Given the description of an element on the screen output the (x, y) to click on. 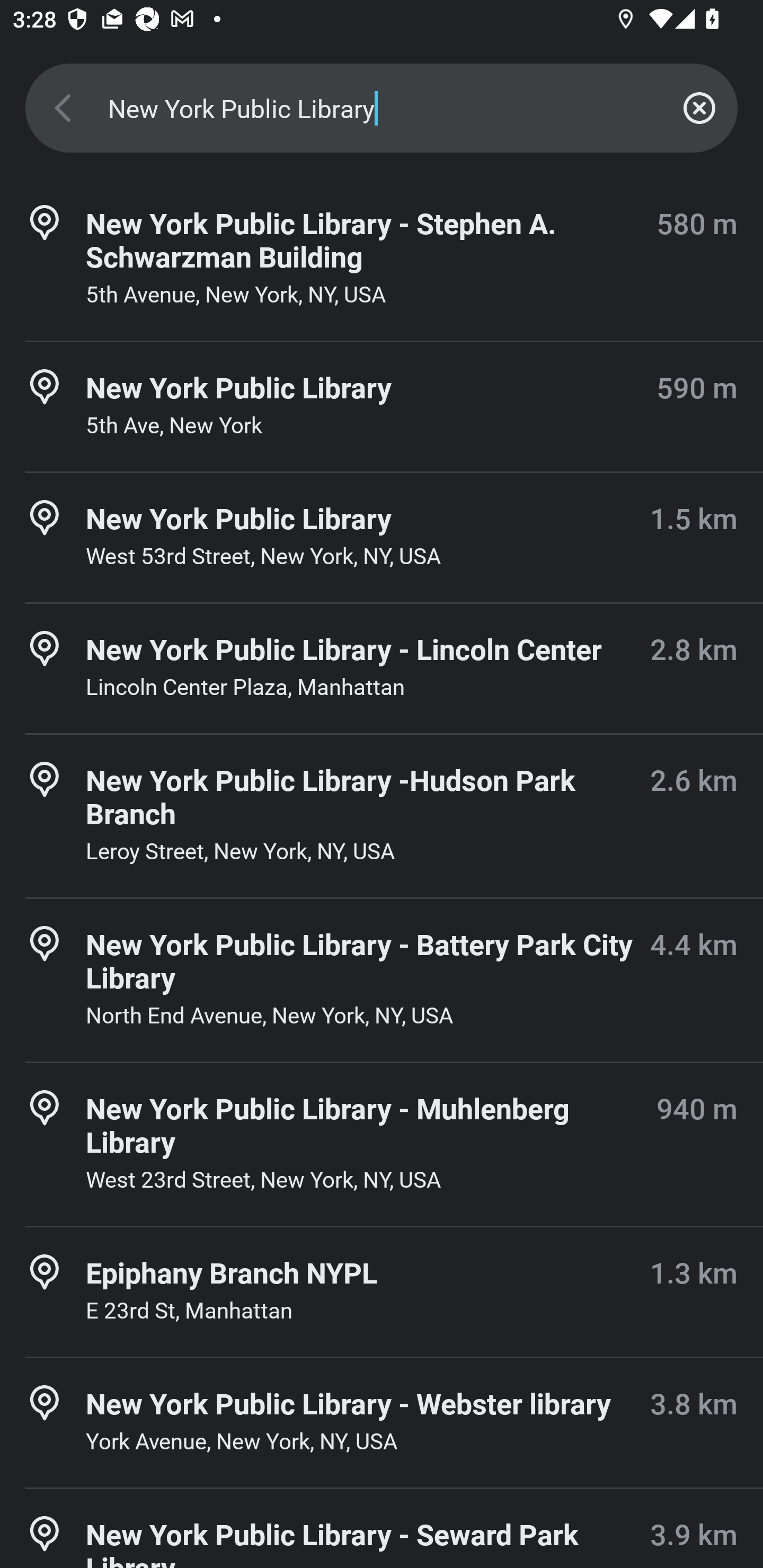
New York Public Library SEARCH_SCREEN_SEARCH_FIELD (381, 108)
New York Public Library 590 m 5th Ave, New York (381, 406)
Epiphany Branch NYPL 1.3 km E 23rd St, Manhattan (381, 1291)
